Given the description of an element on the screen output the (x, y) to click on. 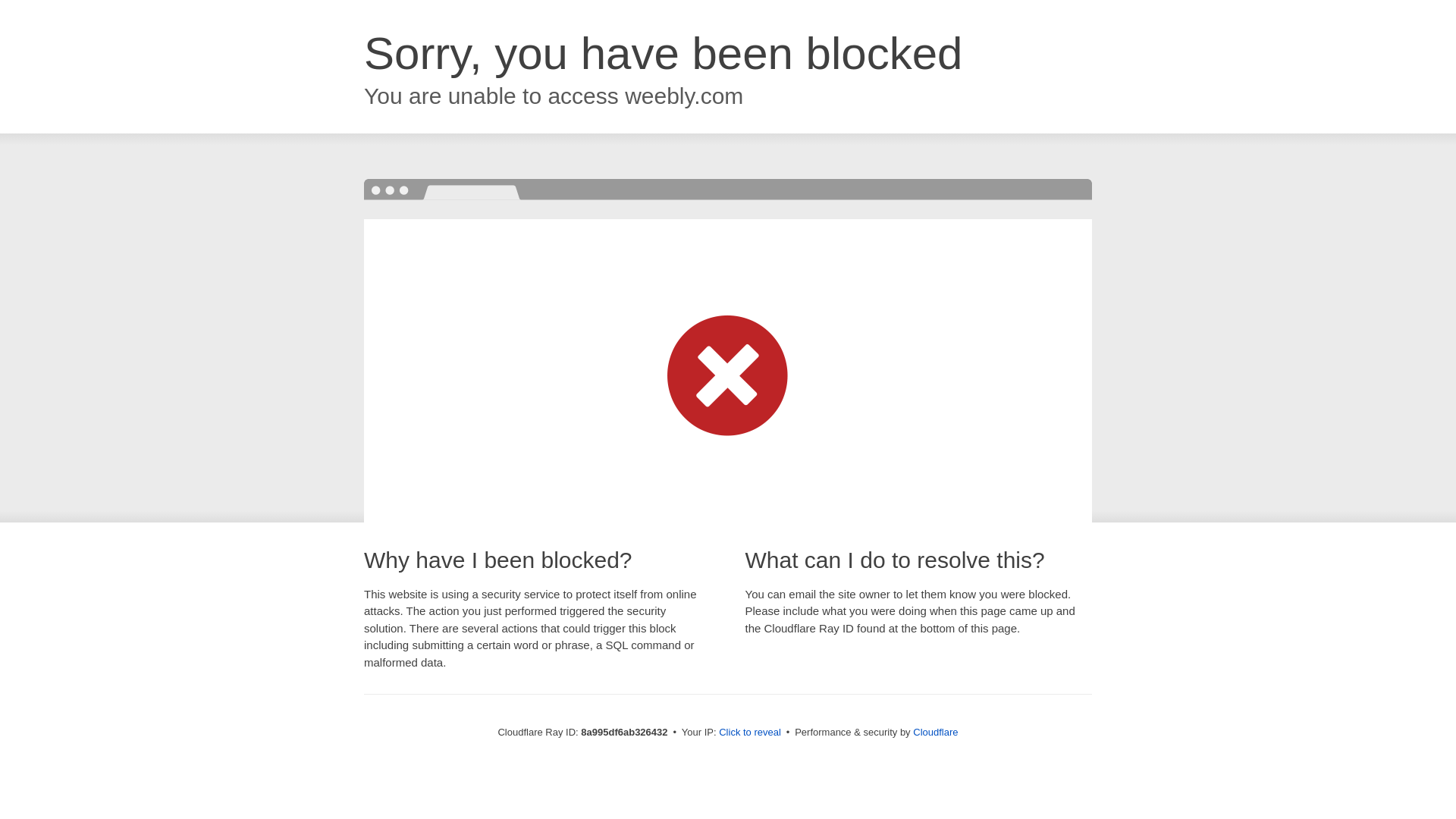
Click to reveal (749, 732)
Cloudflare (935, 731)
